Given the description of an element on the screen output the (x, y) to click on. 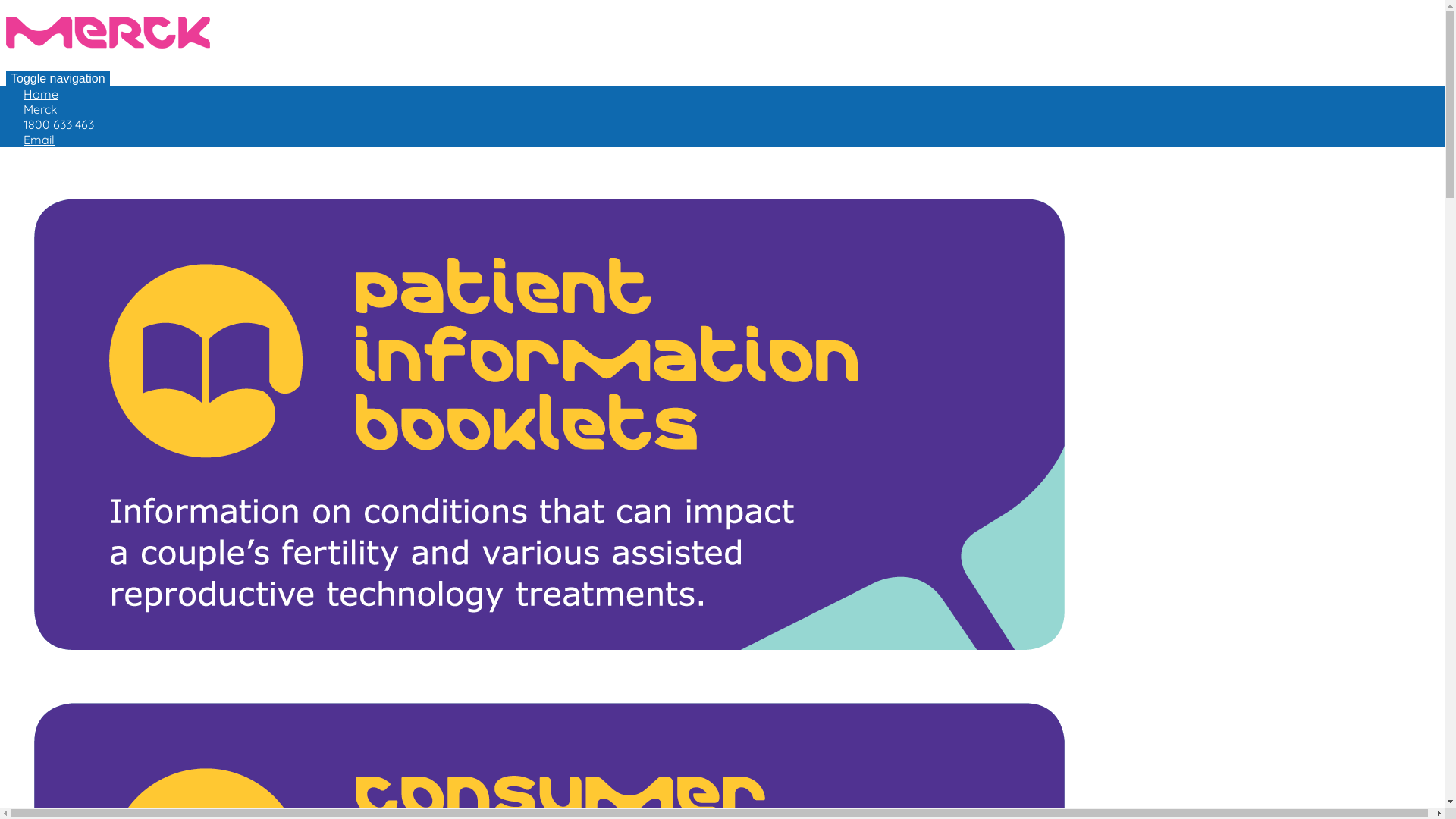
Toggle navigation Element type: text (57, 78)
Merck  Element type: hover (108, 32)
